Given the description of an element on the screen output the (x, y) to click on. 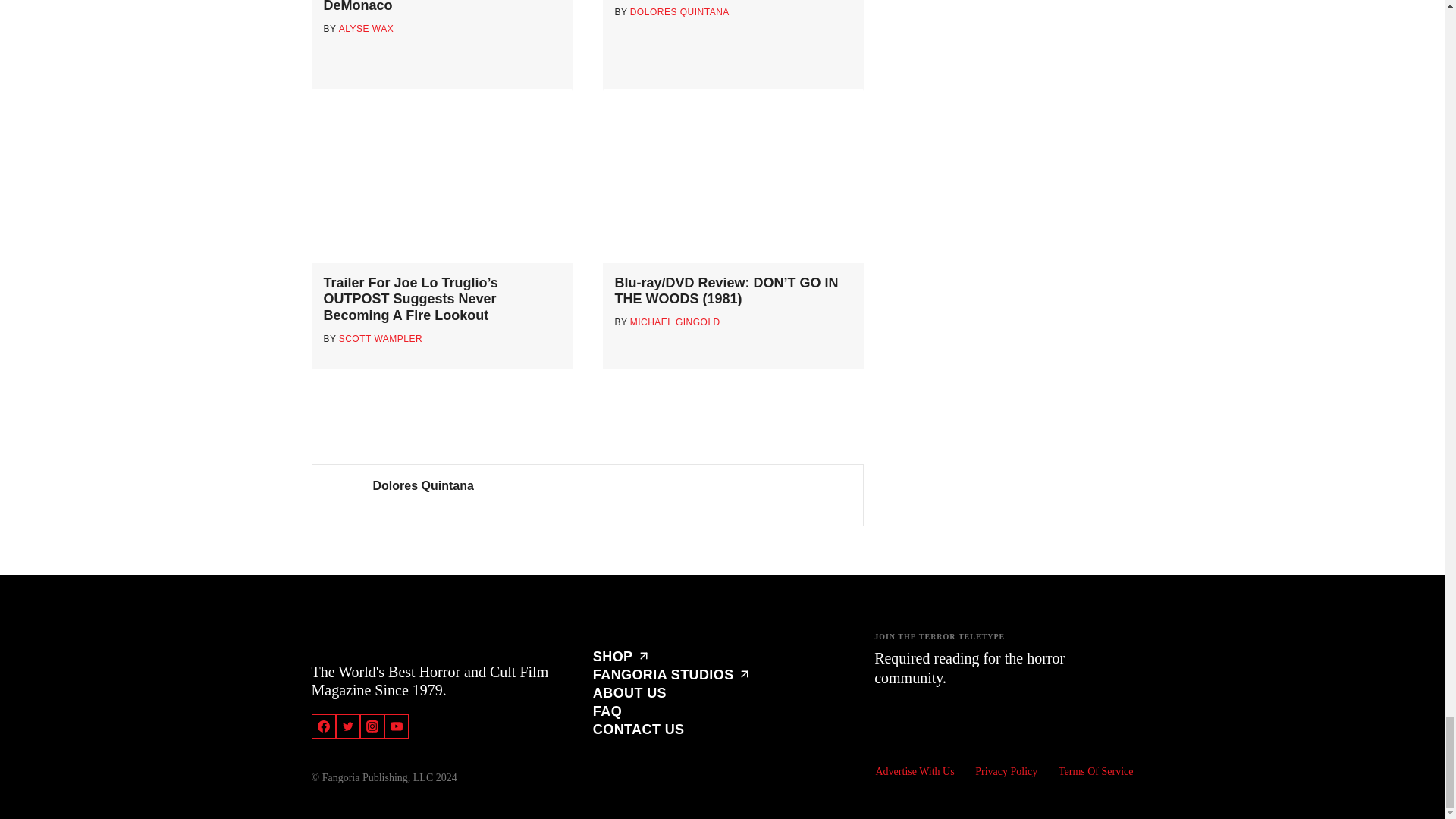
ALYSE WAX (366, 28)
Posts by Dolores Quintana (423, 485)
